Given the description of an element on the screen output the (x, y) to click on. 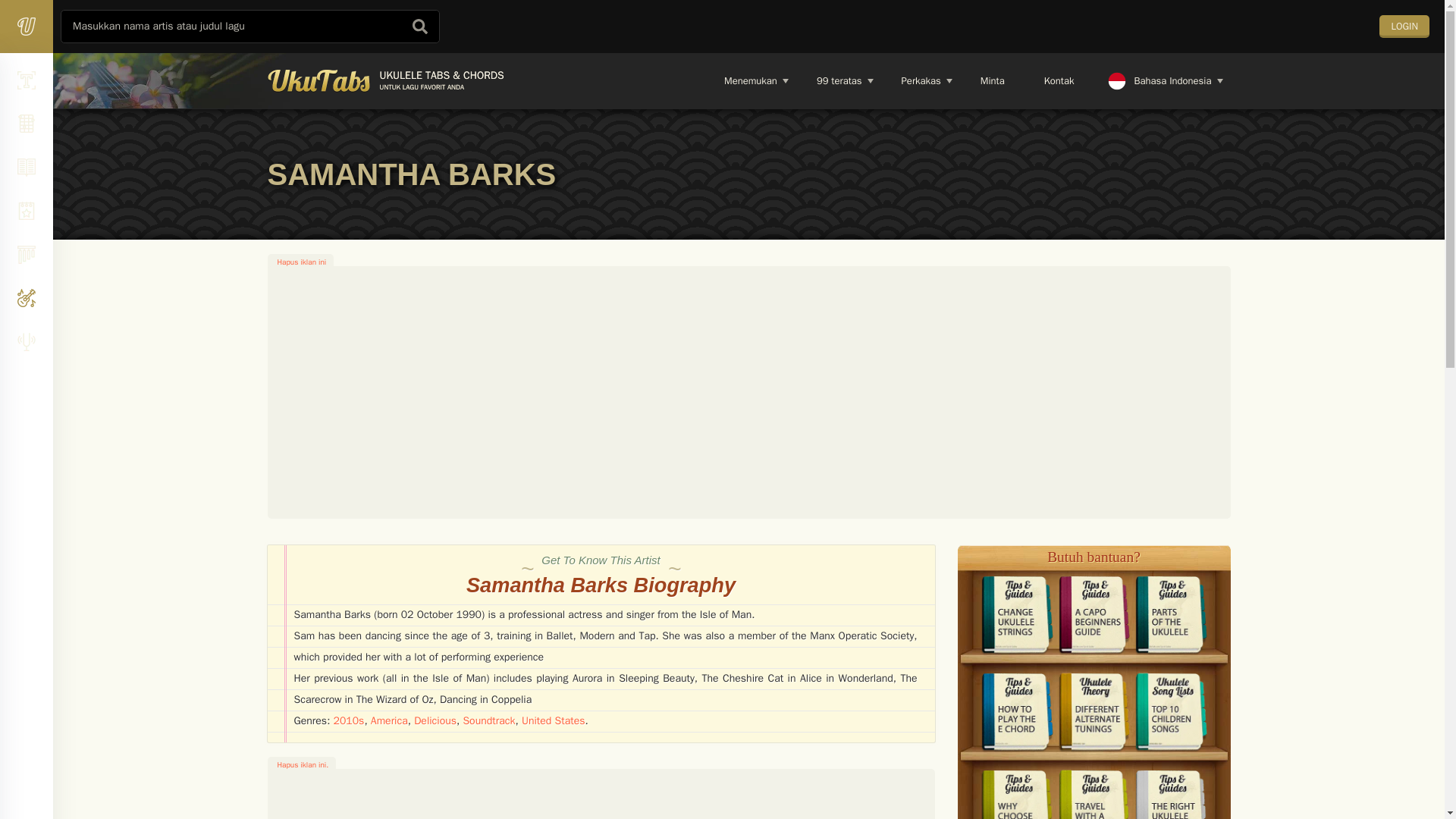
LOGIN (966, 80)
99 lagu teratas di UkuTabs (1403, 26)
Temukan Lagu Ukulele (838, 80)
Alat Ukulele (749, 80)
Menemukan (919, 80)
99 teratas (749, 80)
